Given the description of an element on the screen output the (x, y) to click on. 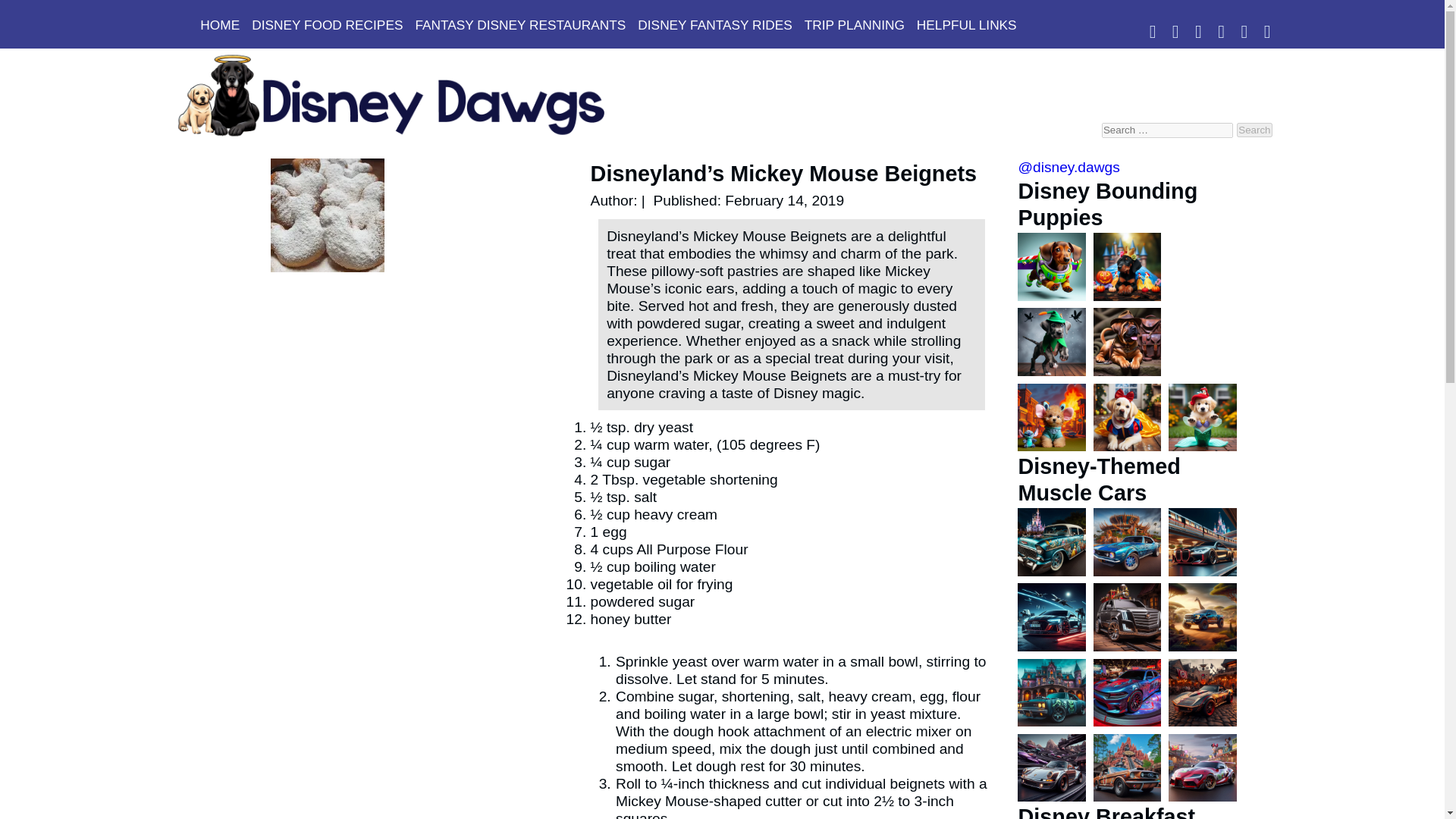
Search (1253, 129)
DISNEY FOOD RECIPES (327, 22)
TRIP PLANNING (854, 22)
HOME (219, 22)
DISNEY FANTASY RIDES (714, 22)
Search (1253, 129)
HELPFUL LINKS (967, 22)
FANTASY DISNEY RESTAURANTS (520, 22)
Search (1253, 129)
